Given the description of an element on the screen output the (x, y) to click on. 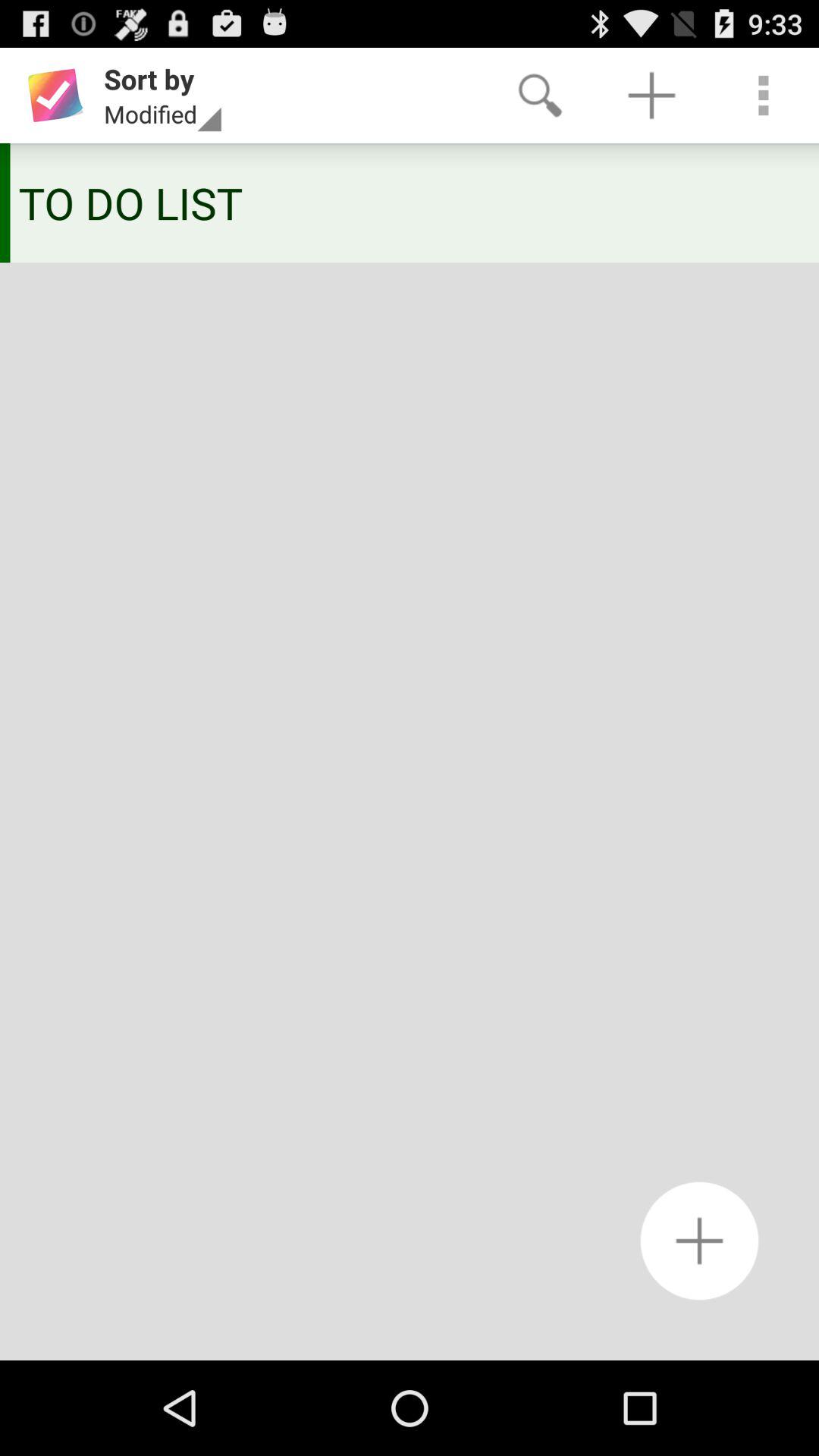
open to do list app (404, 202)
